Given the description of an element on the screen output the (x, y) to click on. 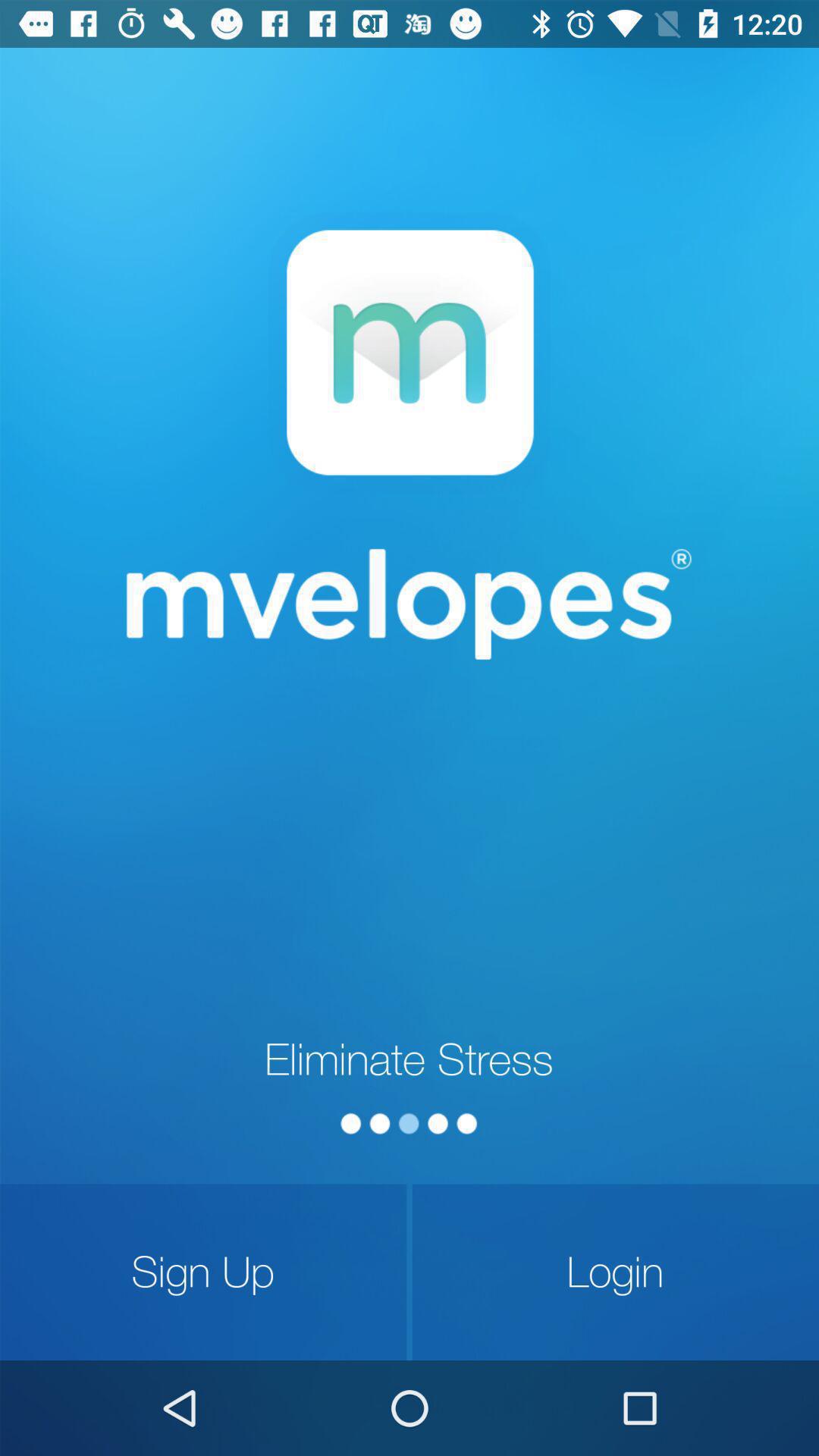
scroll to the sign up icon (203, 1272)
